Given the description of an element on the screen output the (x, y) to click on. 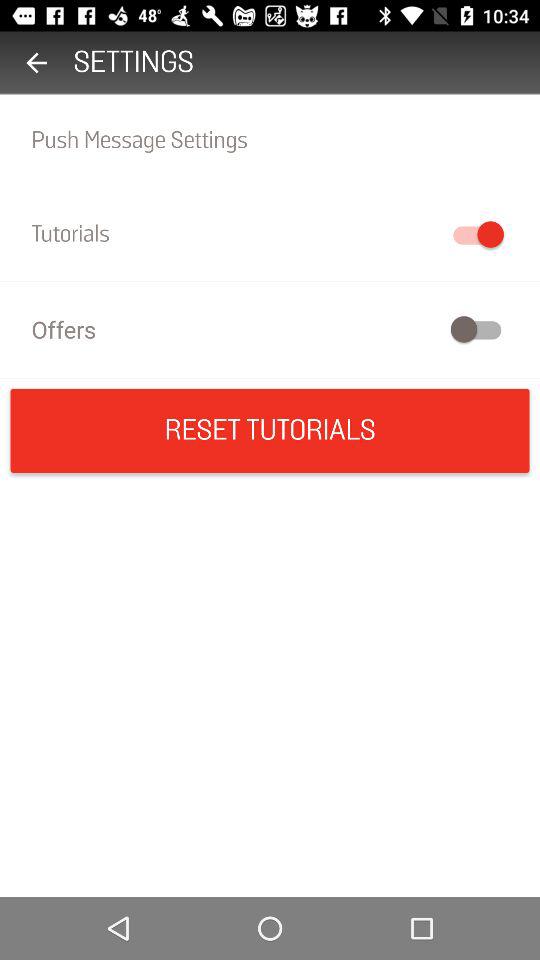
open the icon next to the settings item (36, 62)
